Given the description of an element on the screen output the (x, y) to click on. 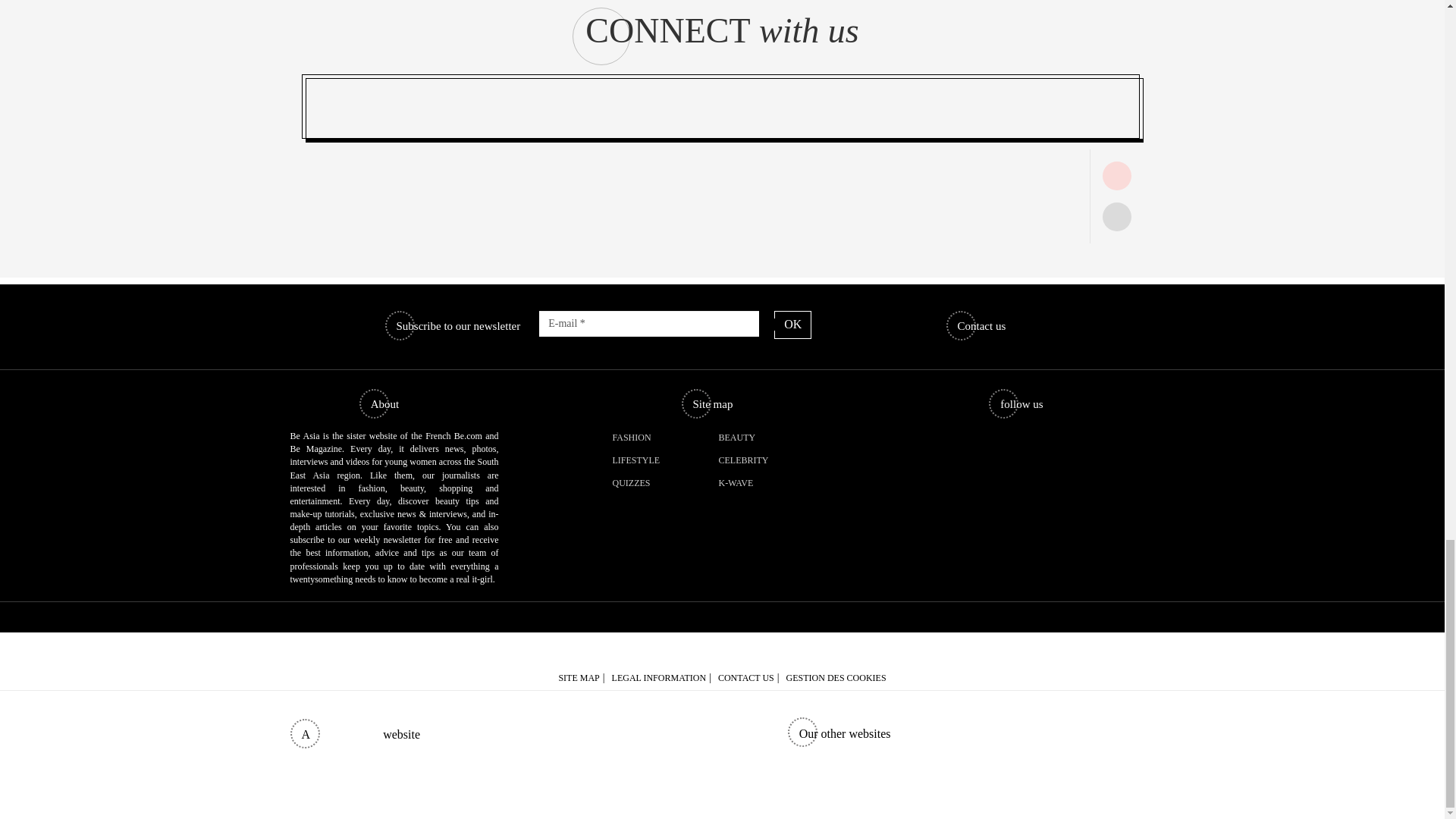
OK (792, 325)
